Given the description of an element on the screen output the (x, y) to click on. 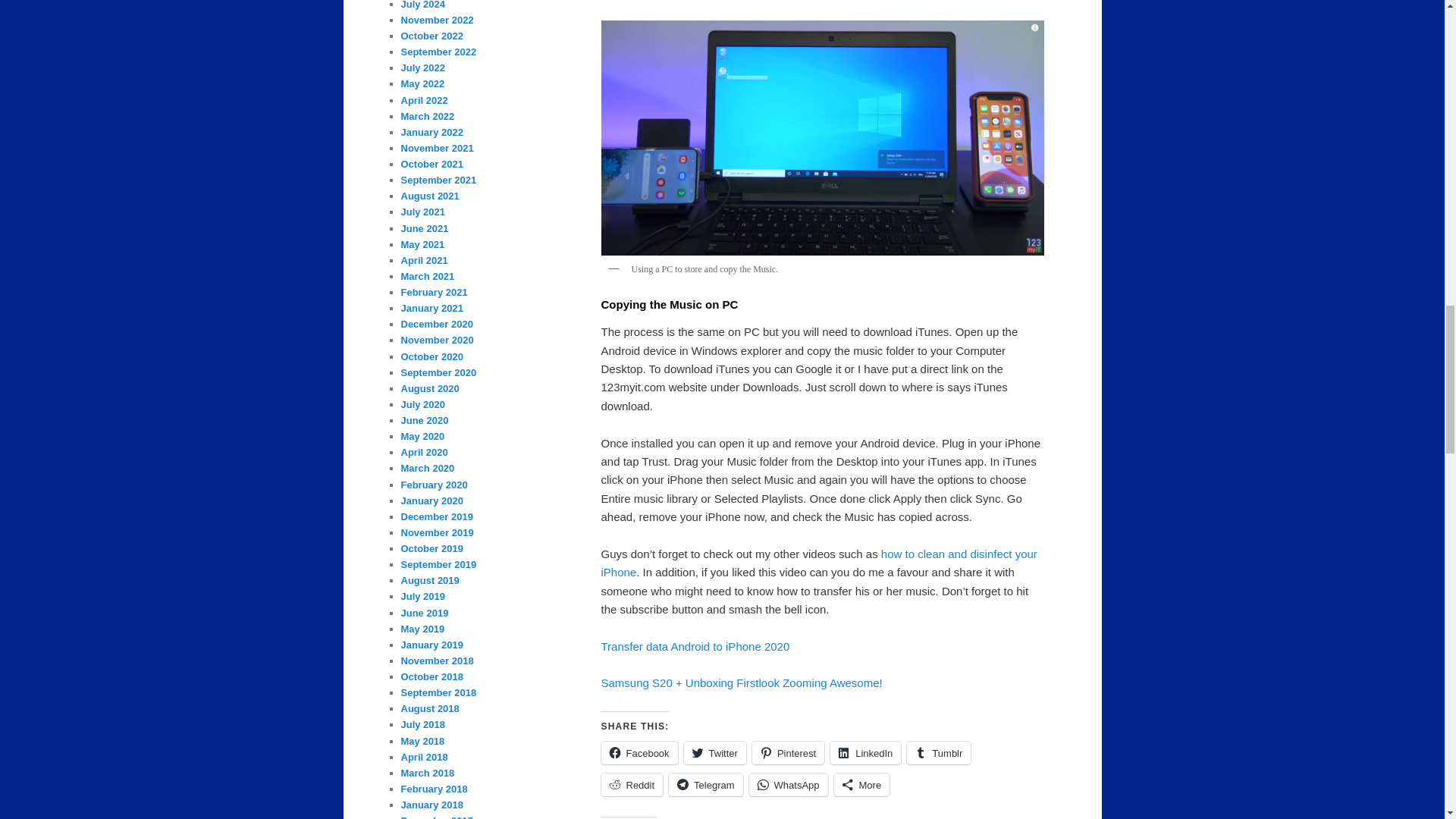
Click to share on Telegram (705, 784)
Click to share on Reddit (630, 784)
Click to share on Pinterest (788, 753)
Click to share on Twitter (714, 753)
Click to share on Tumblr (939, 753)
Click to share on WhatsApp (788, 784)
Click to share on Facebook (638, 753)
Click to share on LinkedIn (865, 753)
